Given the description of an element on the screen output the (x, y) to click on. 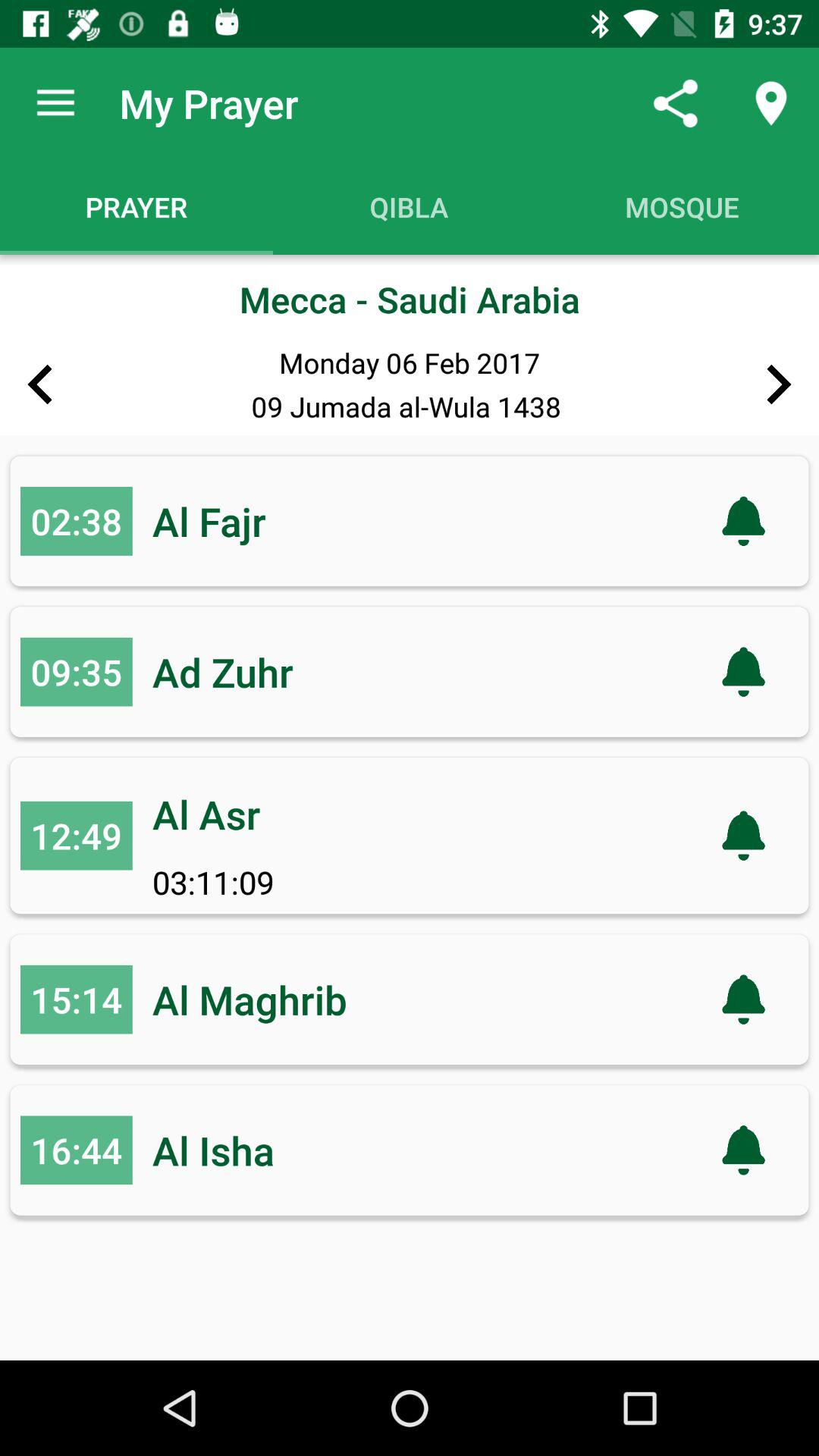
open the icon above prayer item (55, 103)
